Given the description of an element on the screen output the (x, y) to click on. 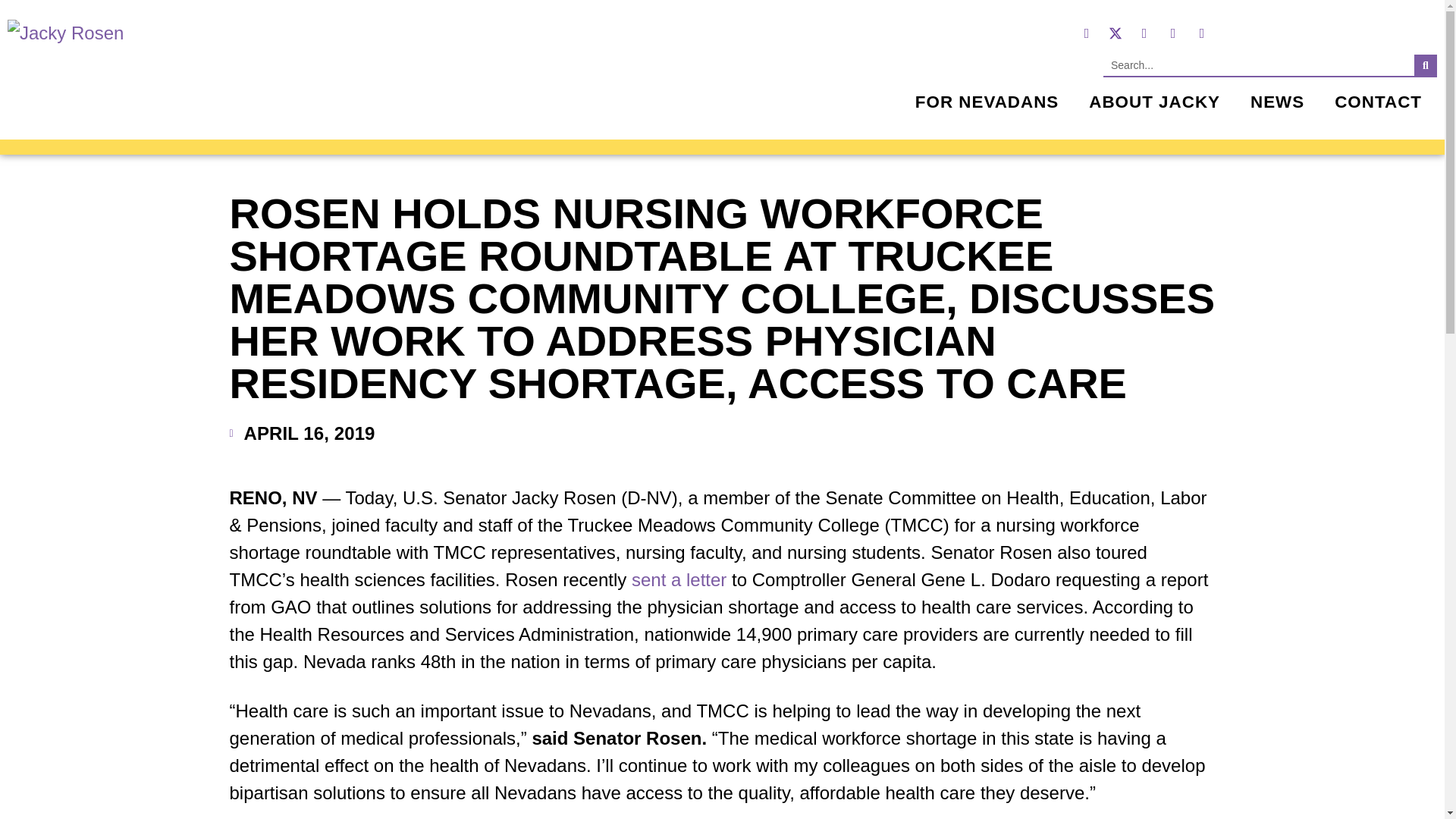
NEWS (1276, 102)
FOR NEVADANS (986, 102)
ABOUT JACKY (1154, 102)
